Given the description of an element on the screen output the (x, y) to click on. 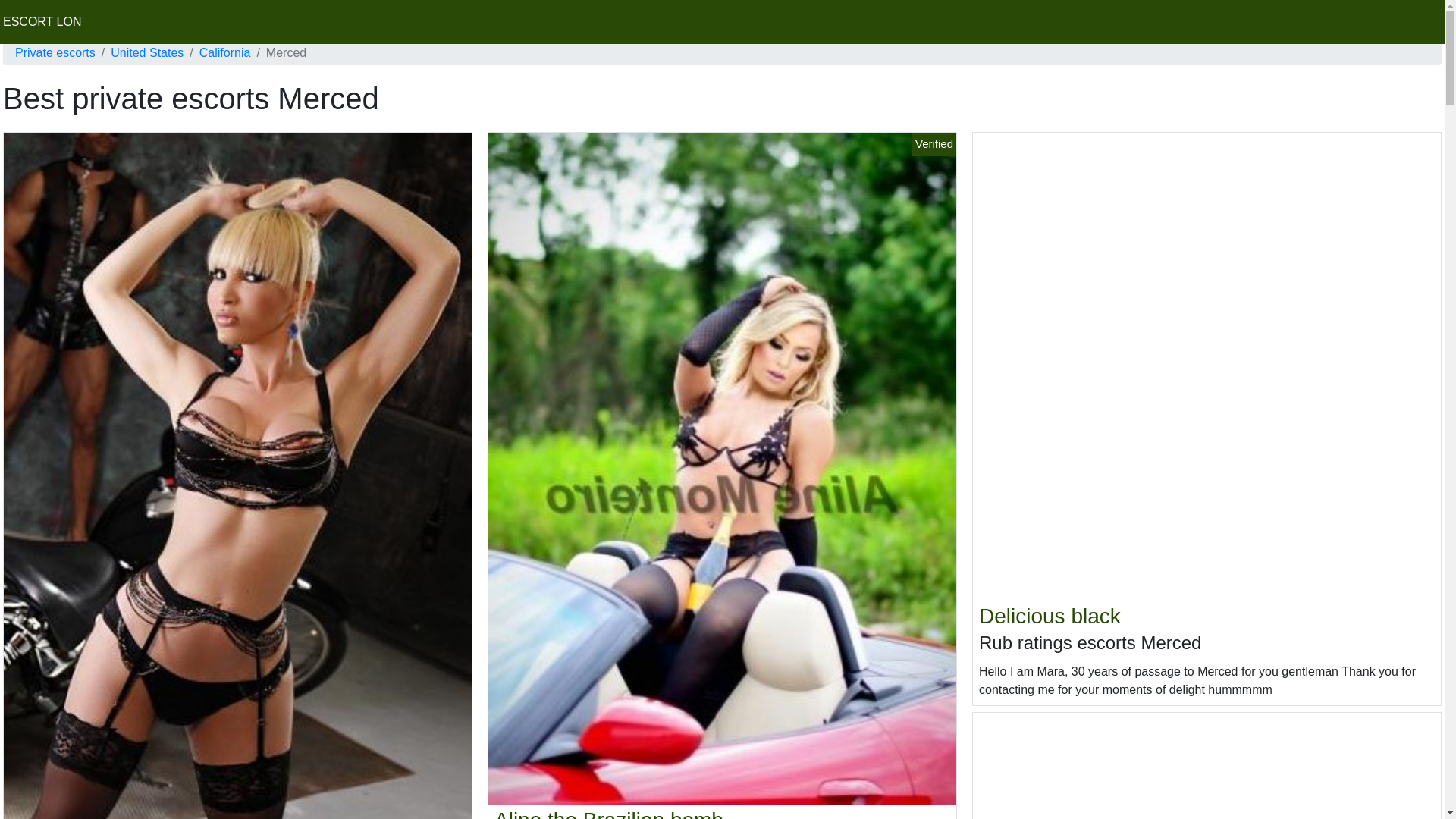
Aline the Brazilian bomb (609, 813)
California (224, 53)
Delicious black (1049, 616)
United States (146, 53)
ESCORT LON (41, 21)
Private escorts (55, 53)
